Given the description of an element on the screen output the (x, y) to click on. 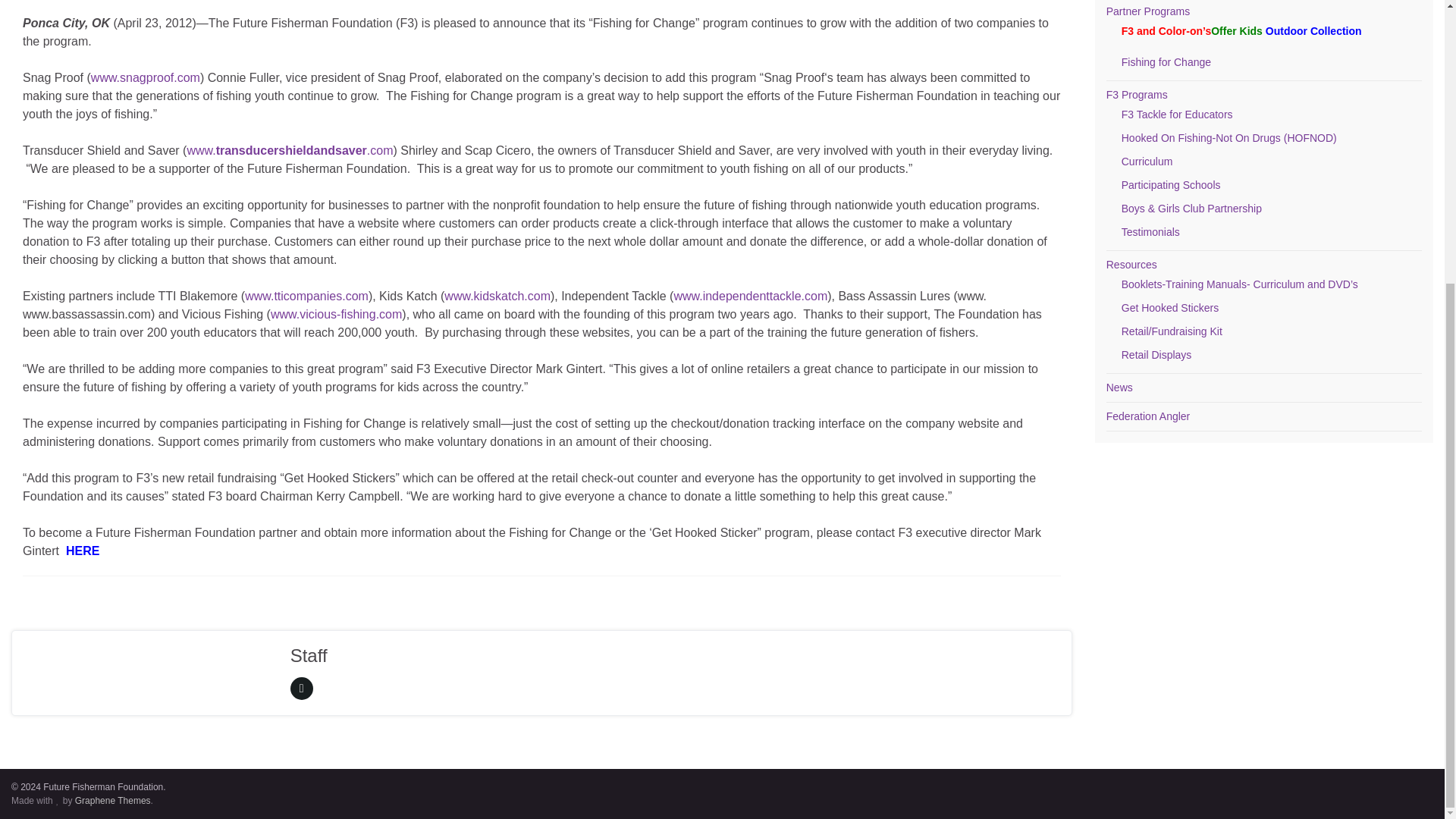
www.vicious-fishing.com (335, 314)
www.transducershieldandsaver.com (289, 150)
www.independenttackle.com (749, 295)
www.tticompanies.com (306, 295)
www.snagproof.com (145, 77)
www.kidskatch.com (497, 295)
HERE (82, 550)
